Given the description of an element on the screen output the (x, y) to click on. 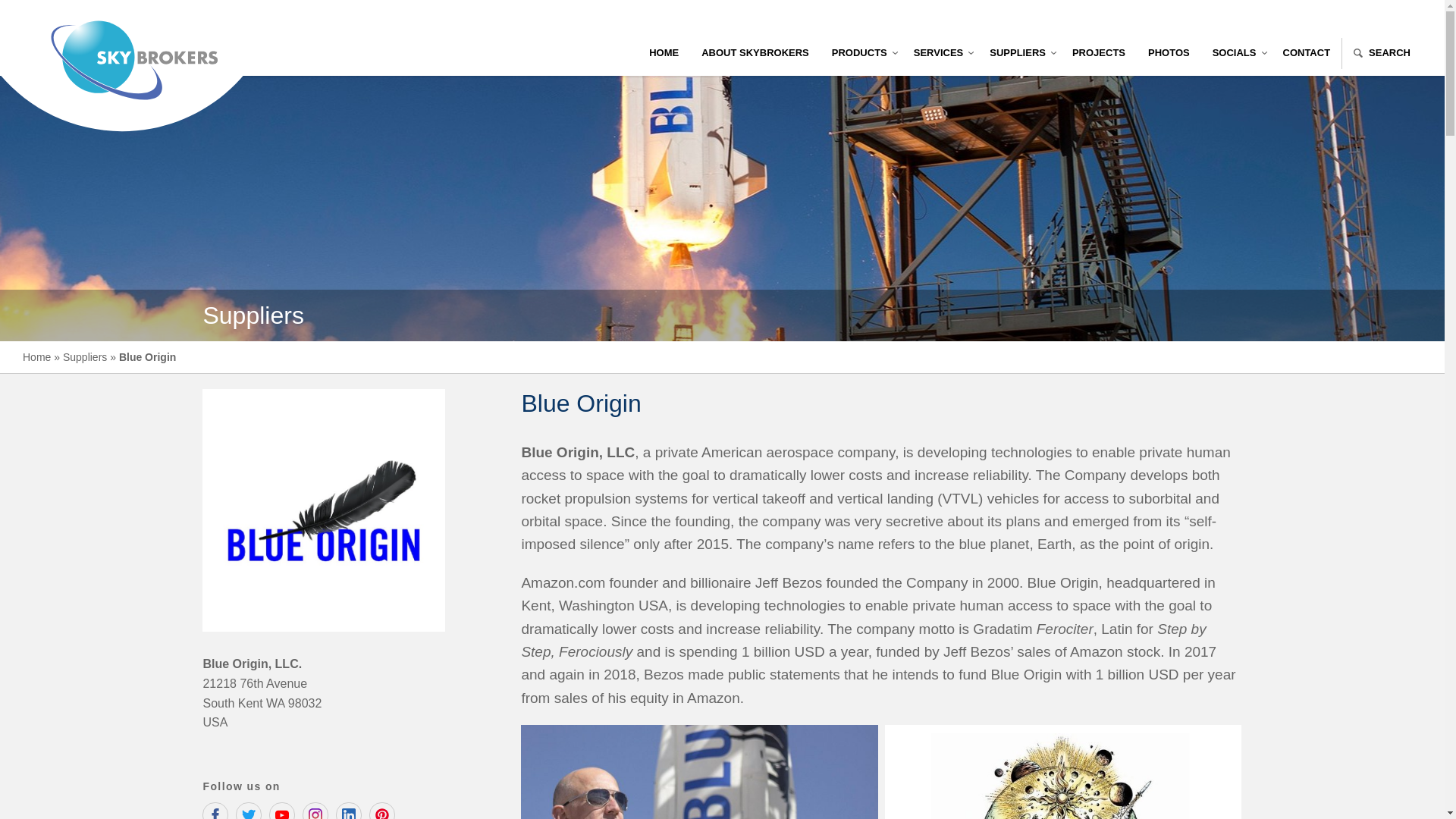
HOME (663, 52)
Follow Skybrokers on Pinterest (381, 810)
Follow Skybrokers on Linkedin (348, 810)
Follow Skybrokers on Twitter (248, 810)
PRODUCTS (861, 52)
Follow Skybrokers on Youtube (282, 810)
Follow Skybrokers on Facebook (215, 810)
Follow Skybrokers on Instagram (315, 810)
ABOUT SKYBROKERS (755, 52)
